Given the description of an element on the screen output the (x, y) to click on. 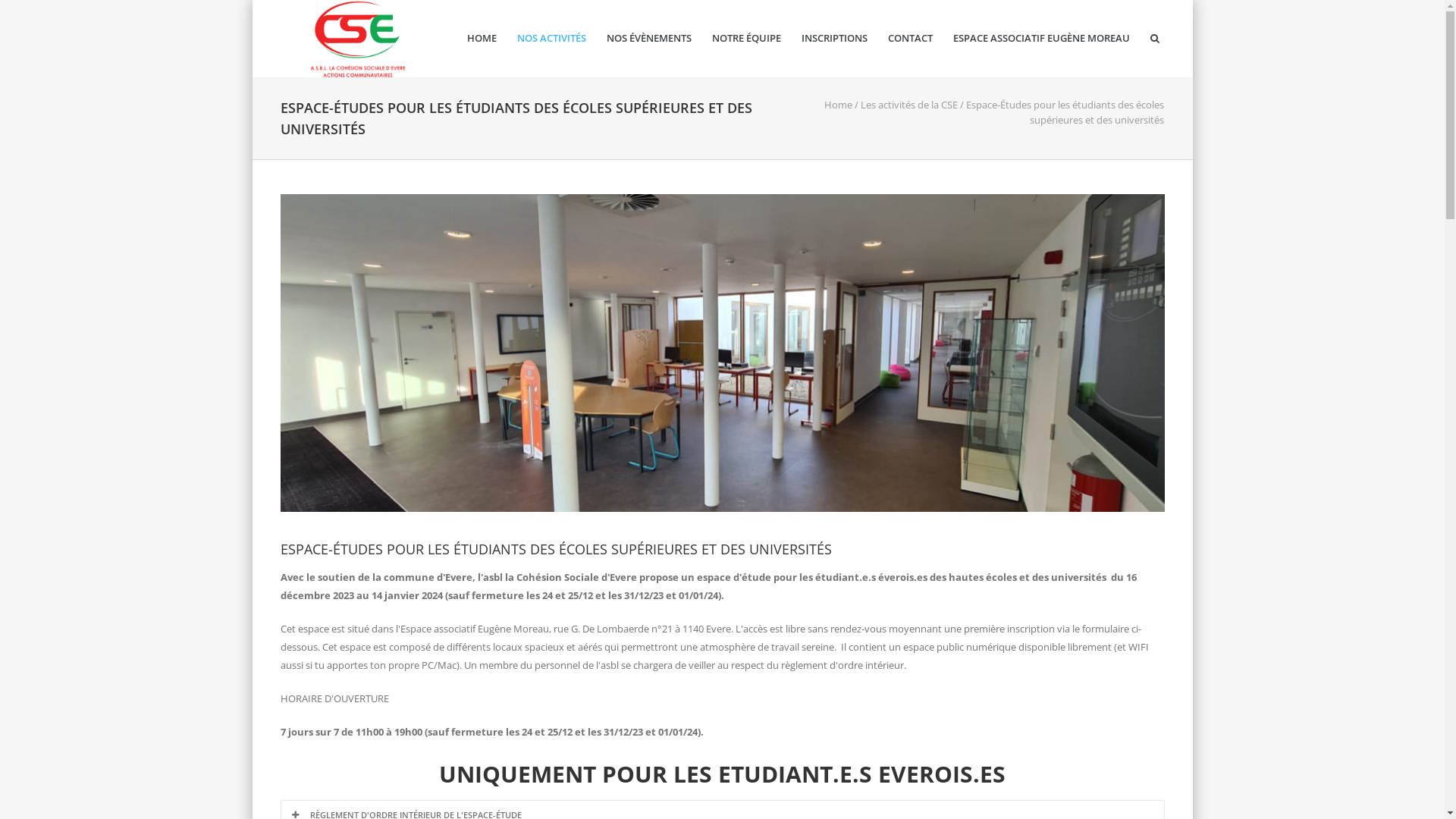
INSCRIPTIONS Element type: text (834, 38)
Home Element type: text (838, 104)
CONTACT Element type: text (910, 38)
HOME Element type: text (480, 38)
